Given the description of an element on the screen output the (x, y) to click on. 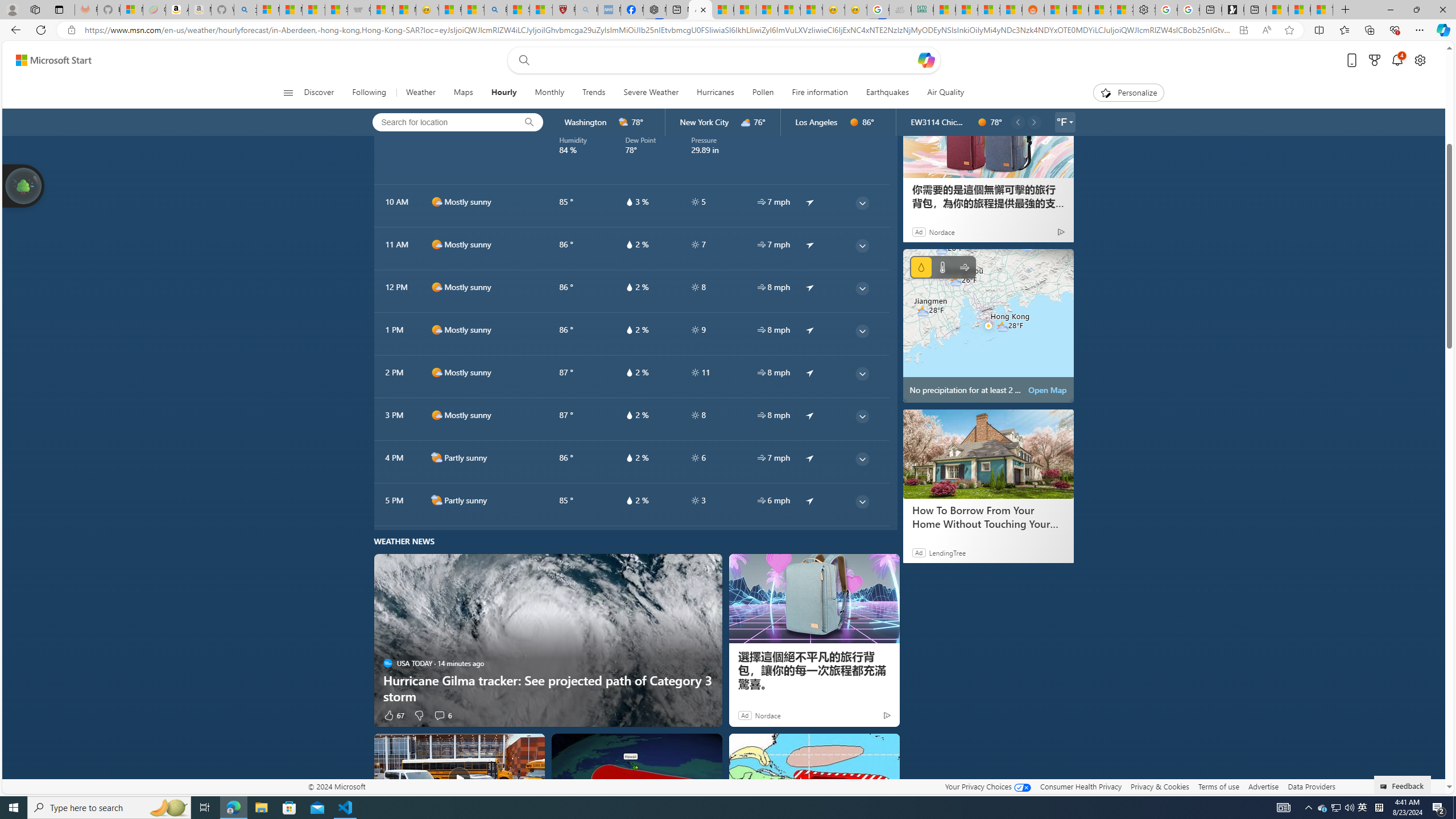
Pollen (762, 92)
Hurricanes (715, 92)
Join us in planting real trees to help our planet! (23, 185)
